Given the description of an element on the screen output the (x, y) to click on. 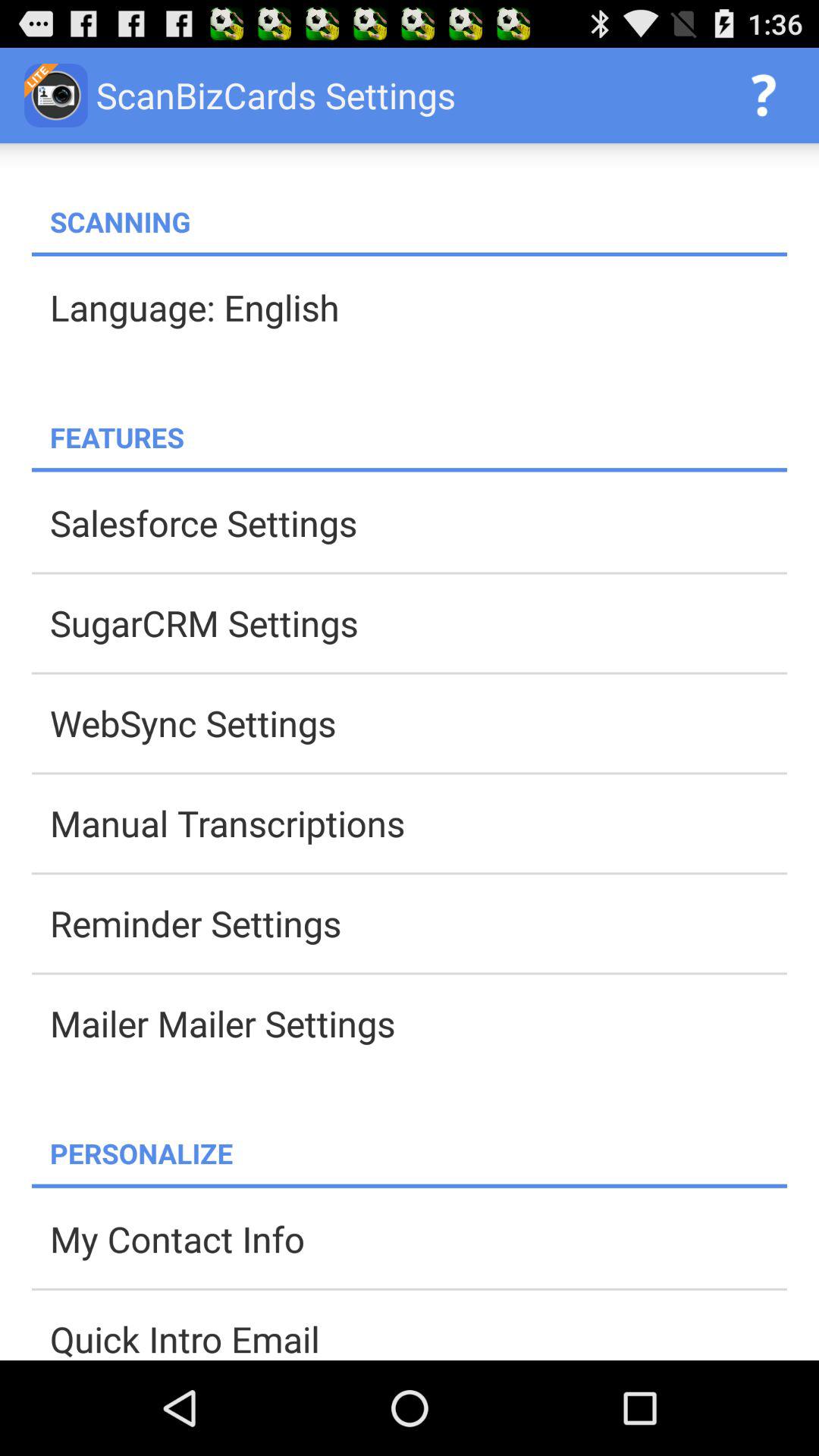
select the icon which is beside scanbizcards settings (55, 95)
click on the camera icon (56, 95)
top right corner button (763, 95)
